Given the description of an element on the screen output the (x, y) to click on. 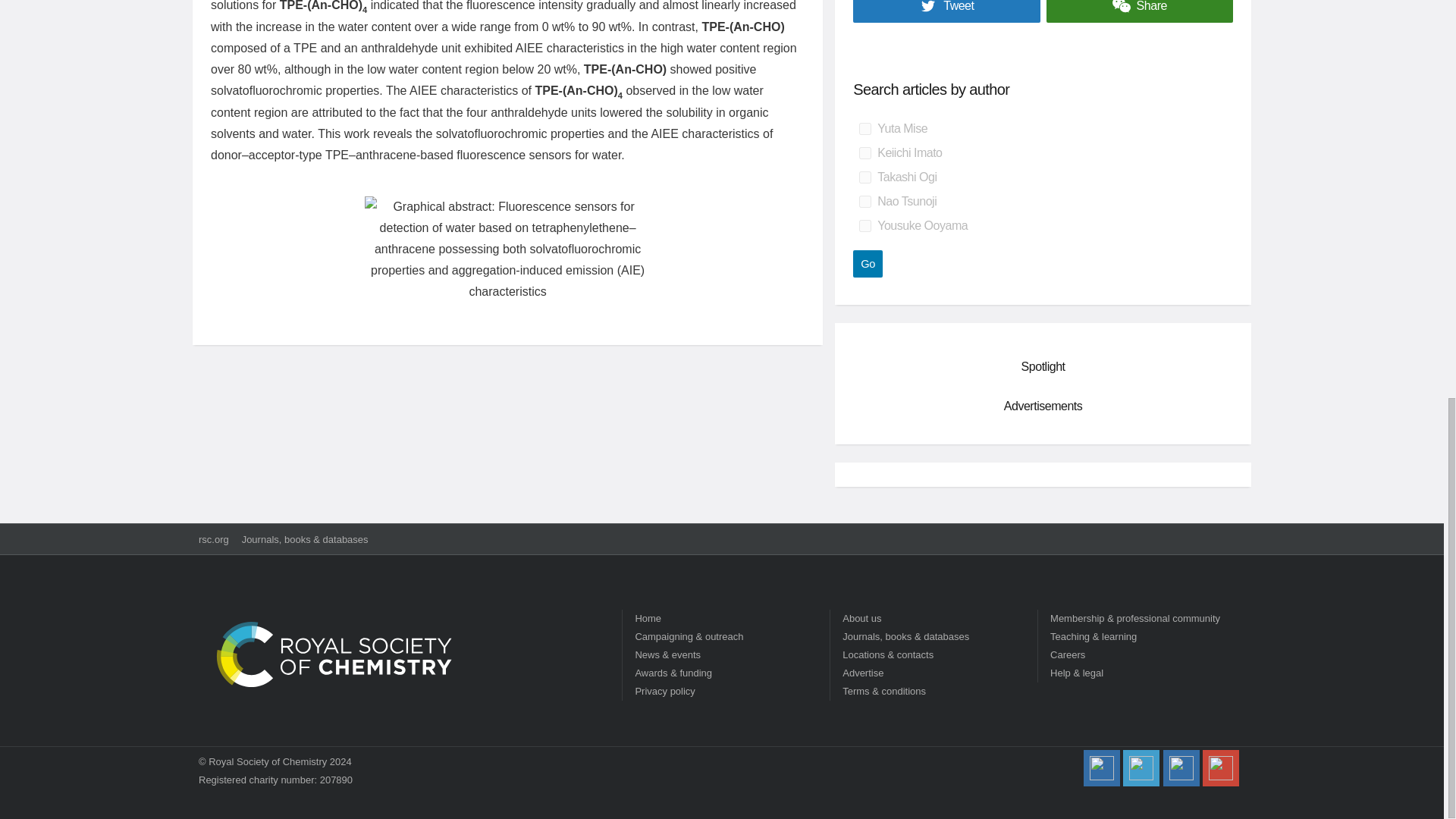
on (864, 128)
on (864, 225)
Go (867, 263)
on (864, 177)
Go (867, 263)
on (864, 201)
on (864, 152)
